Given the description of an element on the screen output the (x, y) to click on. 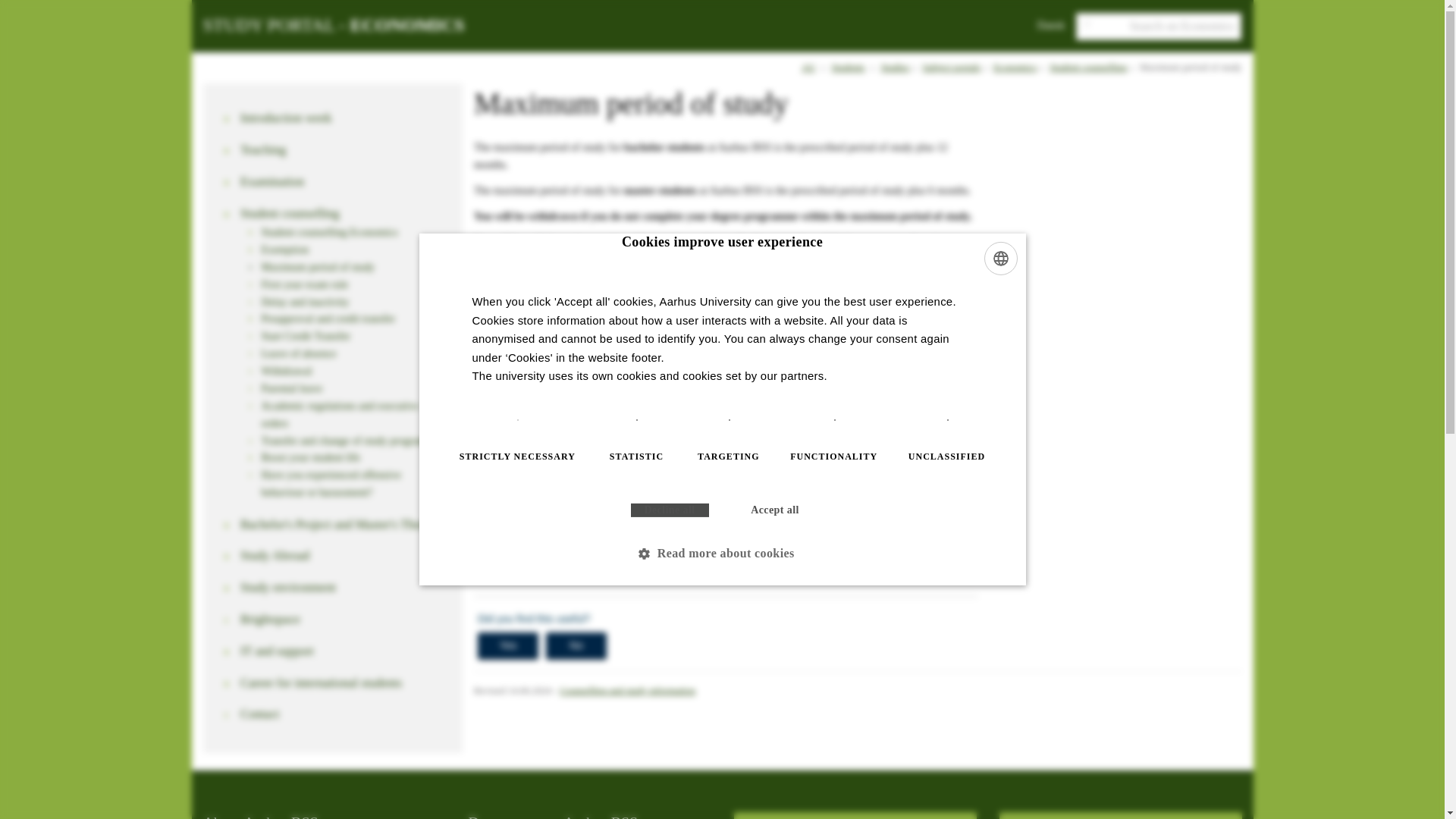
Study environment (342, 587)
Dansk (1050, 24)
Start Credit Transfer (352, 335)
Leave of absence (352, 353)
Students (847, 67)
Introduction week (342, 117)
Economics (1014, 67)
Academic regulations and executive orders (352, 414)
Search (19, 7)
Have you experienced offensive behaviour or harassment? (352, 483)
Exemption (352, 249)
Bachelor's Project and Master's Thesis (342, 524)
IT and support (342, 650)
Career for international students (342, 682)
Transfer and change of study programme (352, 440)
